Given the description of an element on the screen output the (x, y) to click on. 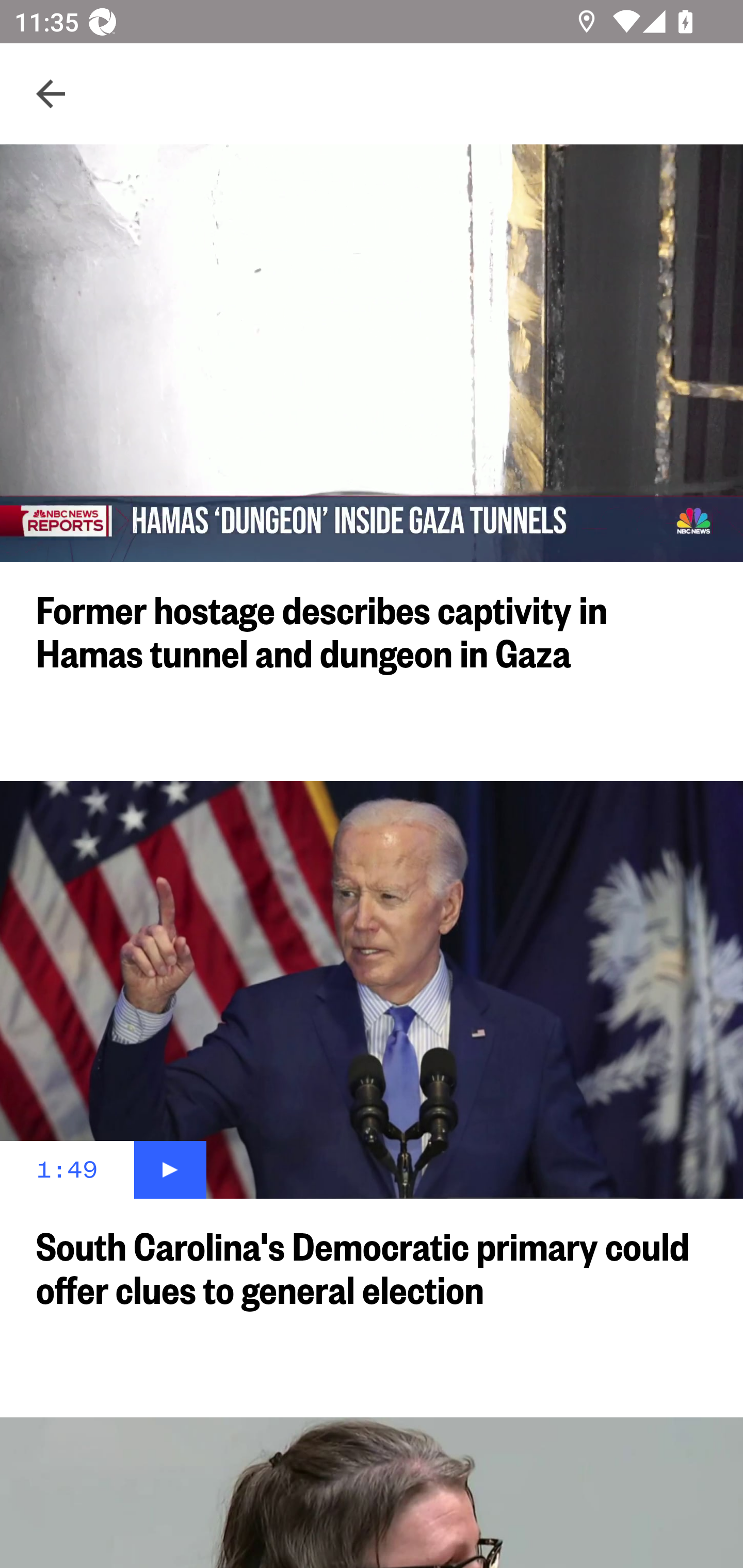
Navigate up (50, 93)
